Given the description of an element on the screen output the (x, y) to click on. 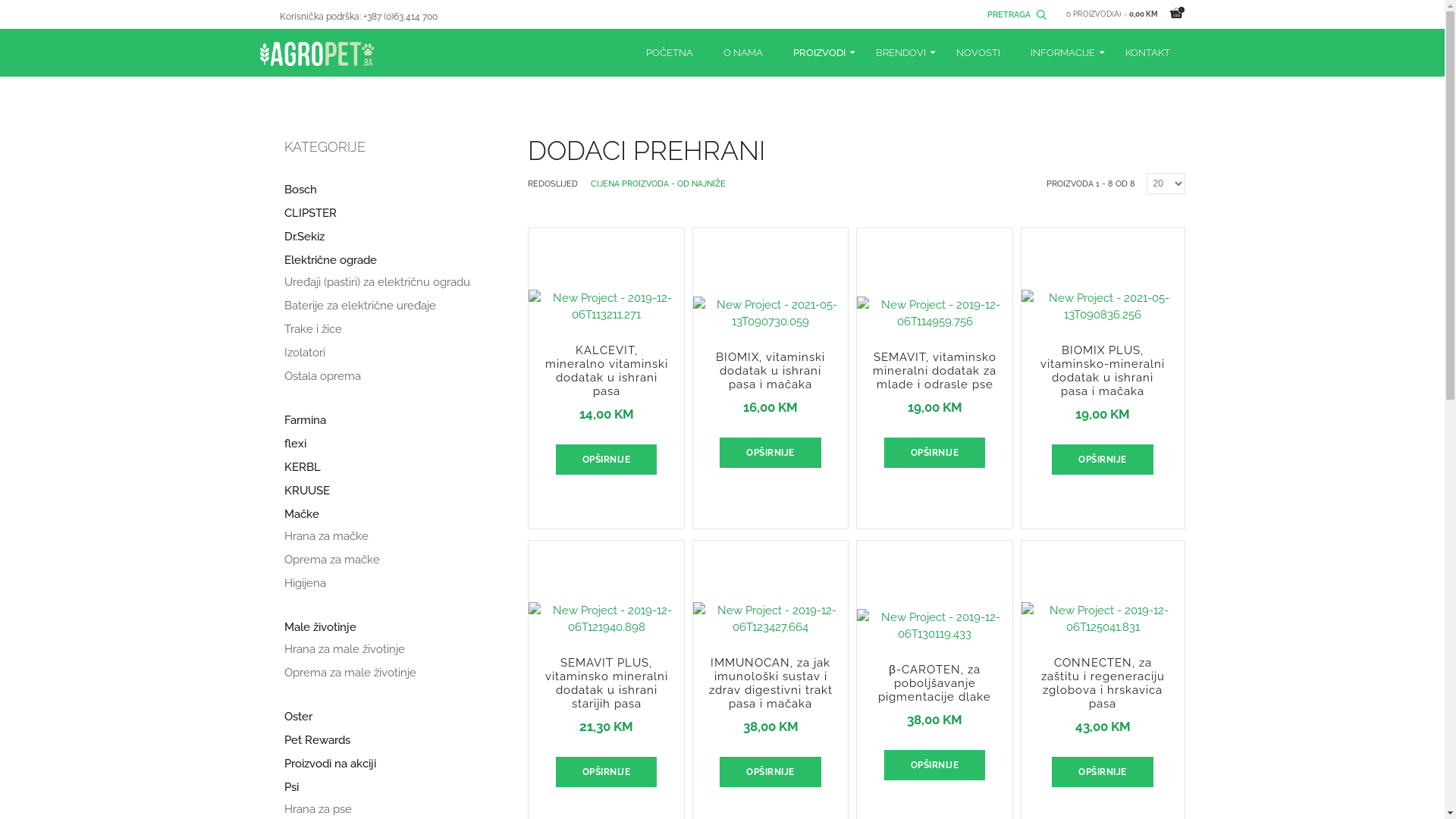
Psi Element type: text (290, 787)
Farmina Element type: text (304, 420)
Oster Element type: text (297, 716)
SEMAVIT, vitaminsko mineralni dodatak za mlade i odrasle pse Element type: hover (934, 326)
INFORMACIJE Element type: text (1061, 52)
flexi Element type: text (294, 443)
Higijena Element type: text (304, 583)
Izolatori Element type: text (303, 352)
BRENDOVI Element type: text (899, 52)
CLIPSTER Element type: text (309, 213)
NOVOSTI Element type: text (977, 52)
Bosch Element type: text (299, 189)
Dr.Sekiz Element type: text (303, 236)
SEMAVIT, vitaminsko mineralni dodatak za mlade i odrasle pse Element type: text (934, 370)
PROIZVODI Element type: text (819, 52)
Pet Rewards Element type: text (316, 740)
Proizvodi na akciji Element type: text (329, 763)
O NAMA Element type: text (743, 52)
KERBL Element type: text (301, 467)
KONTAKT Element type: text (1147, 52)
Ostala oprema Element type: text (321, 376)
KALCEVIT, mineralno vitaminski dodatak u ishrani pasa Element type: text (606, 370)
KALCEVIT, mineralno vitaminski dodatak u ishrani pasa Element type: hover (606, 319)
KRUUSE Element type: text (306, 490)
